Given the description of an element on the screen output the (x, y) to click on. 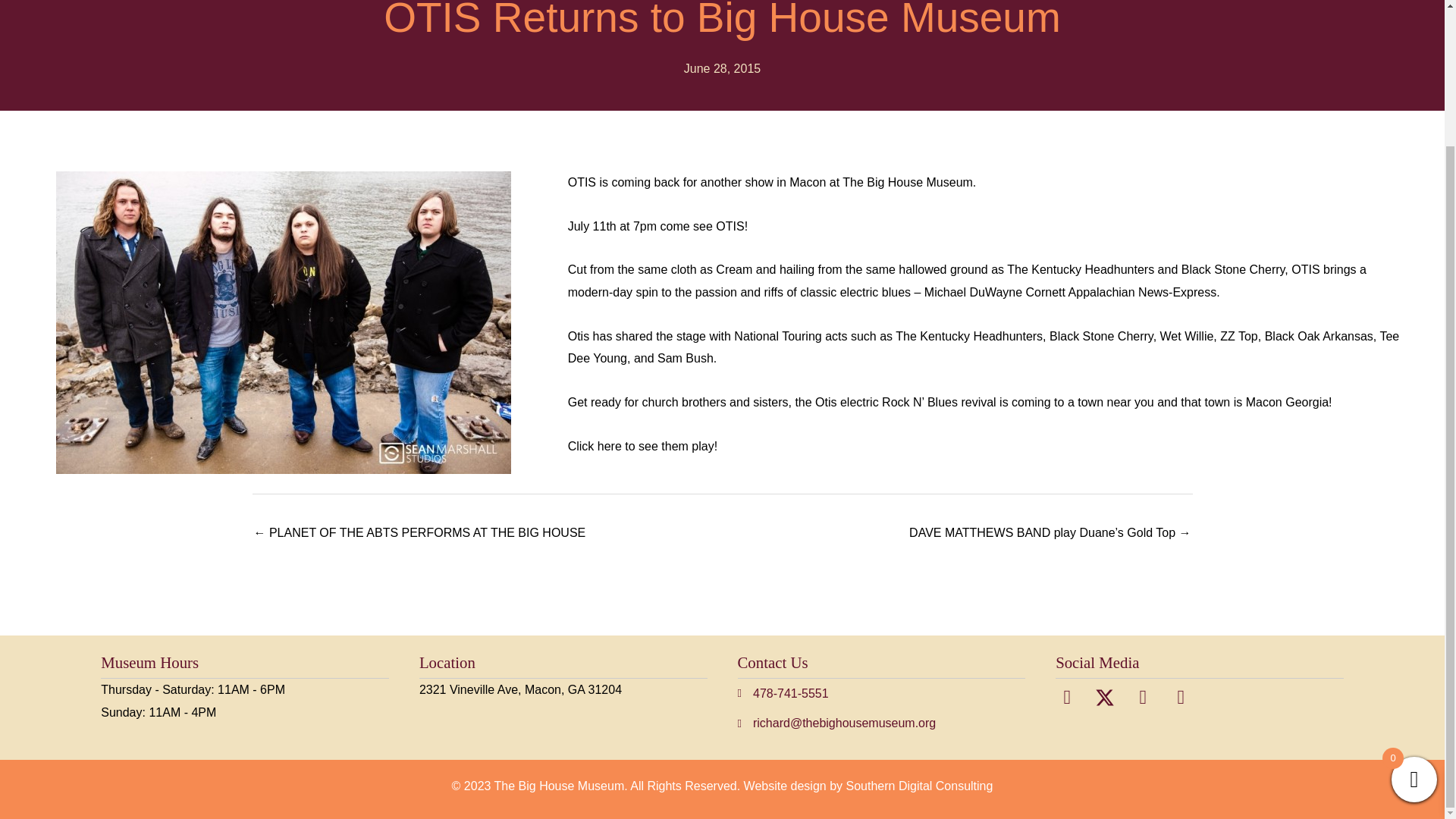
Click here to see them play! (642, 445)
Facebook (1066, 697)
YouTube (1141, 697)
Instagram (1180, 697)
